Given the description of an element on the screen output the (x, y) to click on. 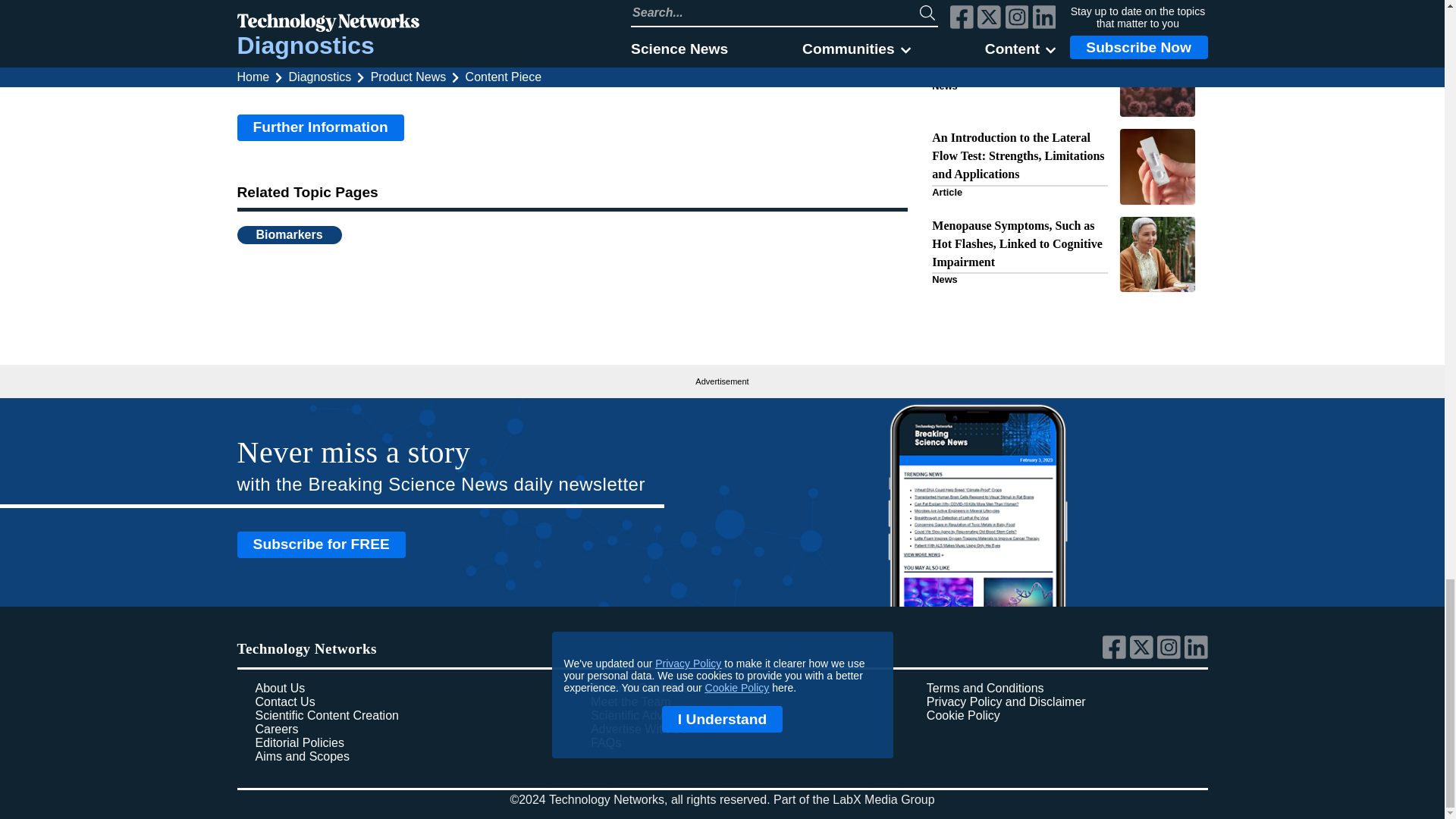
Link to Technology Networks' instagram page (1171, 655)
Link to Technology Networks' linkedin page (1196, 655)
Link to Technology Networks' twitter page (1143, 655)
Link to Technology Networks' facebook page (1115, 655)
